Given the description of an element on the screen output the (x, y) to click on. 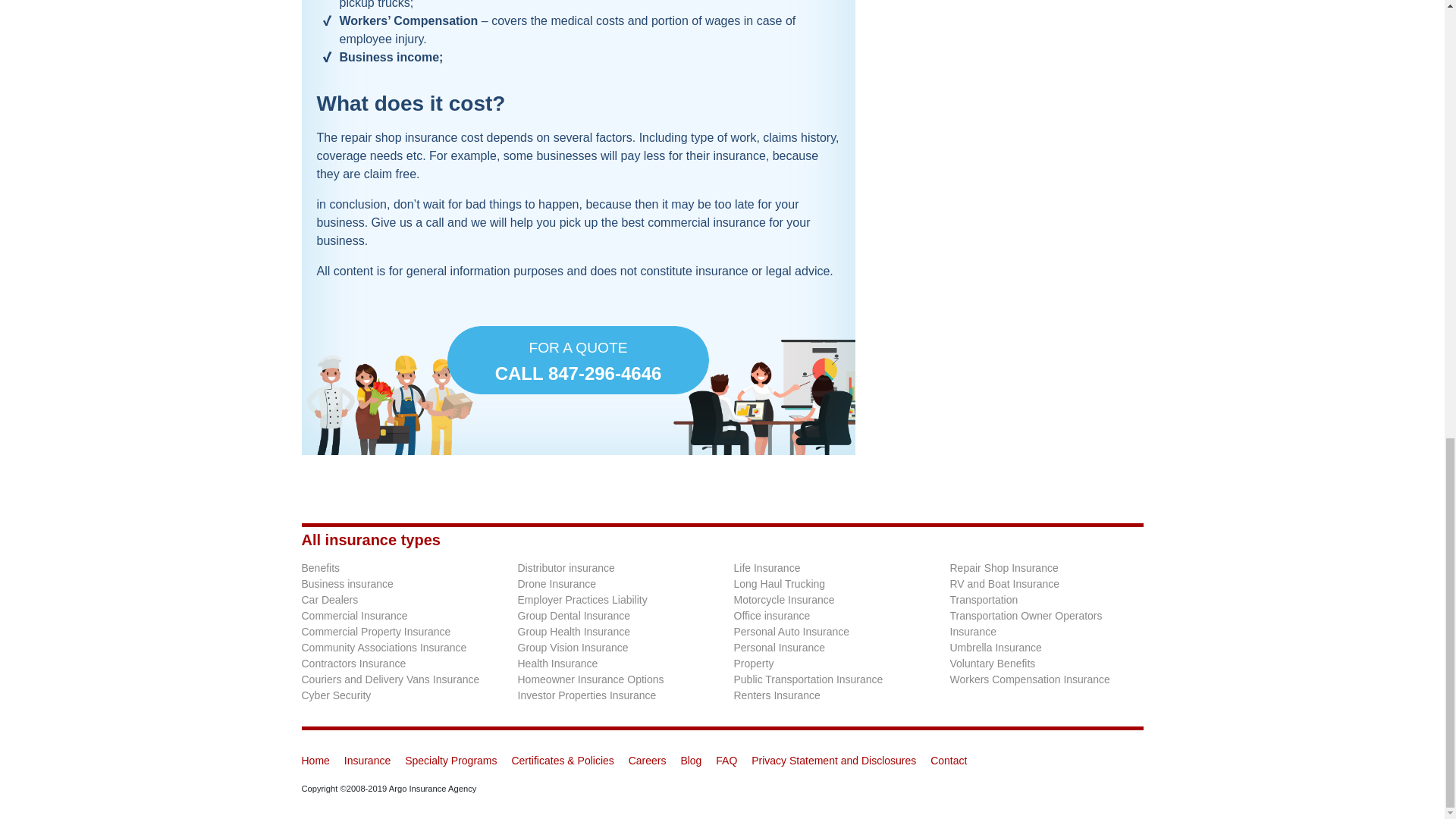
Community Associations Insurance (384, 647)
Contractors Insurance (353, 663)
Benefits (320, 567)
Distributor insurance (565, 567)
Couriers and Delivery Vans Insurance (390, 679)
Commercial Insurance (354, 615)
Commercial Property Insurance (376, 631)
Business insurance (577, 359)
Cyber Security (347, 583)
